Given the description of an element on the screen output the (x, y) to click on. 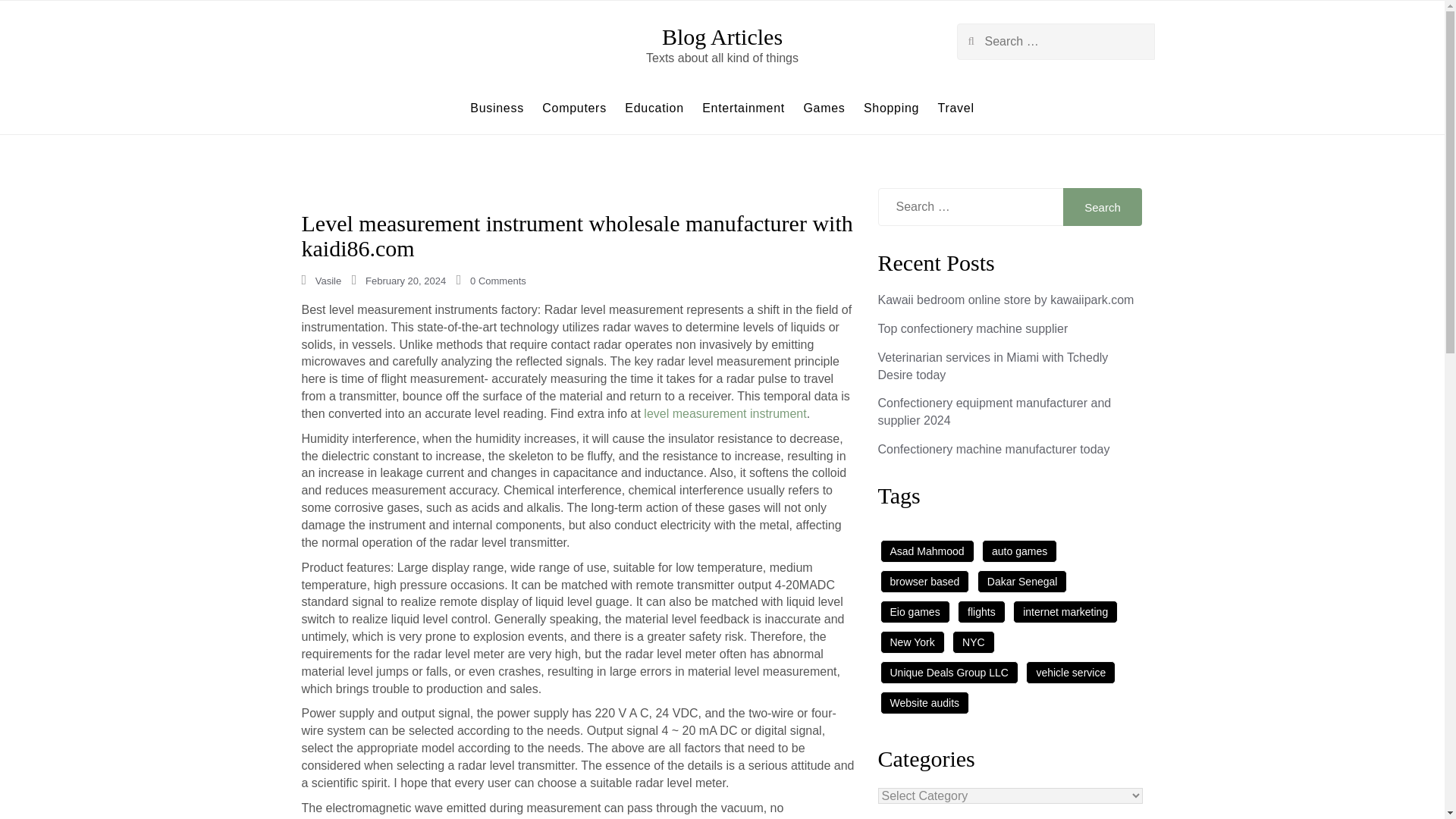
Eio games (914, 611)
Dakar Senegal (1021, 581)
Search (29, 18)
Entertainment (743, 108)
Unique Deals Group LLC (948, 671)
Search (1102, 207)
Top confectionery machine supplier (972, 328)
level measurement instrument (724, 413)
internet marketing (1065, 611)
Search (1102, 207)
